Given the description of an element on the screen output the (x, y) to click on. 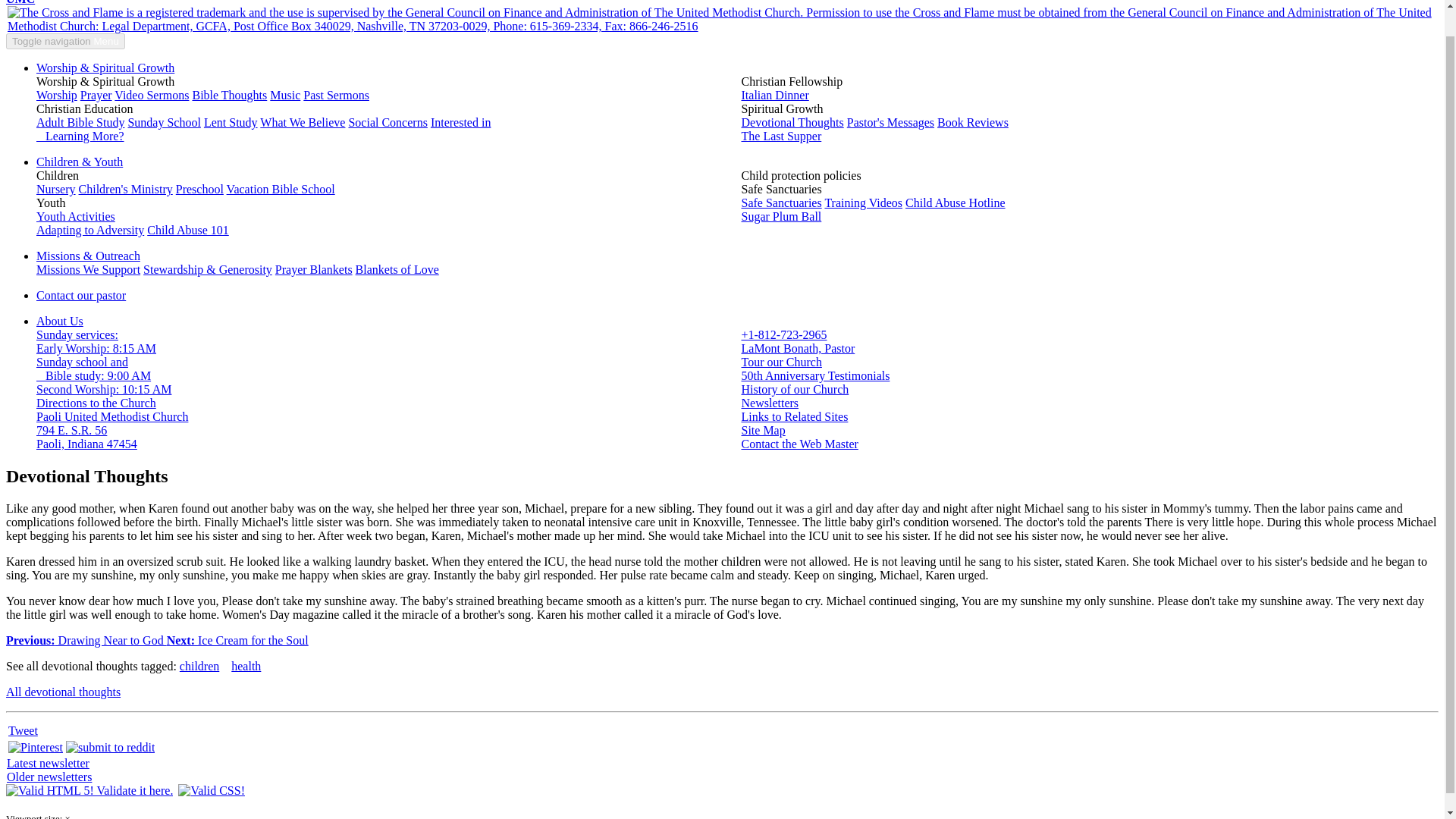
Bible Thoughts (229, 94)
Adult Bible Study (79, 122)
Vacation Bible School (280, 188)
Blankets of Love (397, 269)
Contact our pastor (80, 295)
Training Videos (863, 202)
Preschool (200, 188)
Music (284, 94)
Youth Activities (75, 215)
Video Sermons (263, 129)
Child Abuse 101 (152, 94)
Adapting to Adversity (187, 229)
Child Abuse Hotline (90, 229)
